Given the description of an element on the screen output the (x, y) to click on. 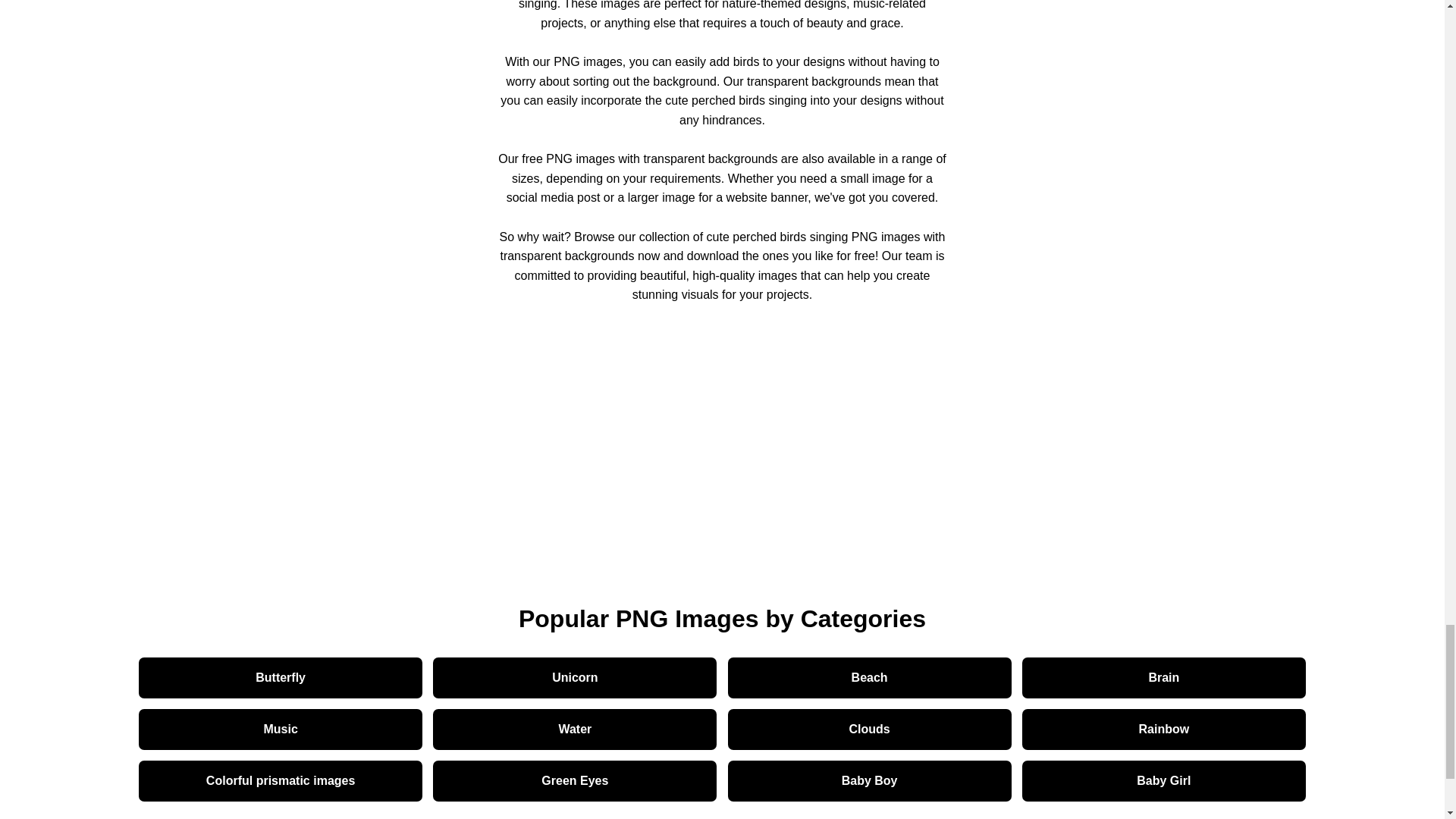
Rainbow (1164, 729)
Colorful prismatic images (280, 780)
Green Eyes (574, 780)
Butterfly (280, 677)
Brain (1164, 677)
Beach (869, 677)
Unicorn (574, 677)
Clouds (869, 729)
Baby Boy (869, 780)
Baby Girl (1164, 780)
Water (574, 729)
Music (280, 729)
